Given the description of an element on the screen output the (x, y) to click on. 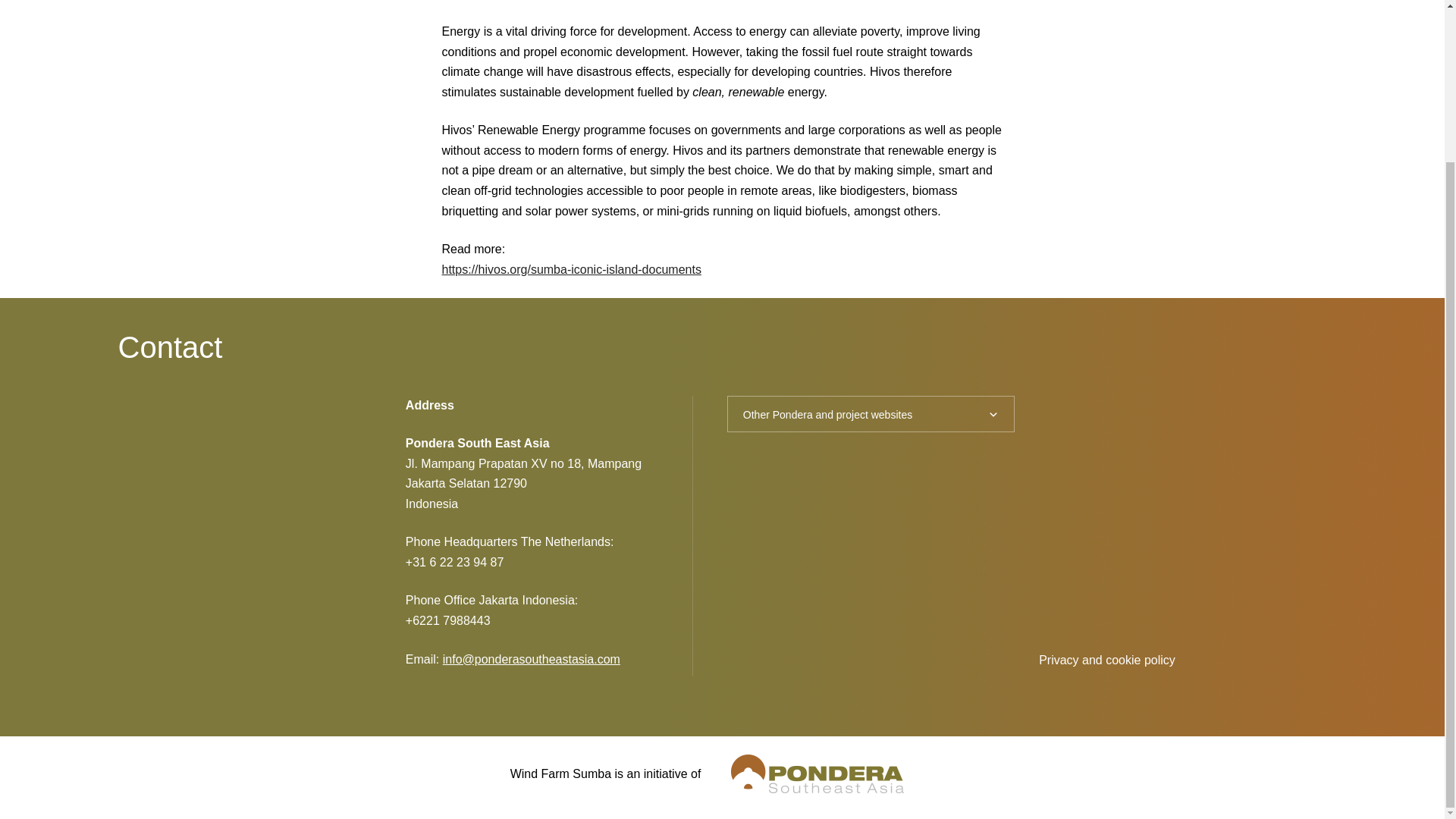
Privacy and cookie policy (1106, 659)
Other Pondera and project websites (870, 413)
